Given the description of an element on the screen output the (x, y) to click on. 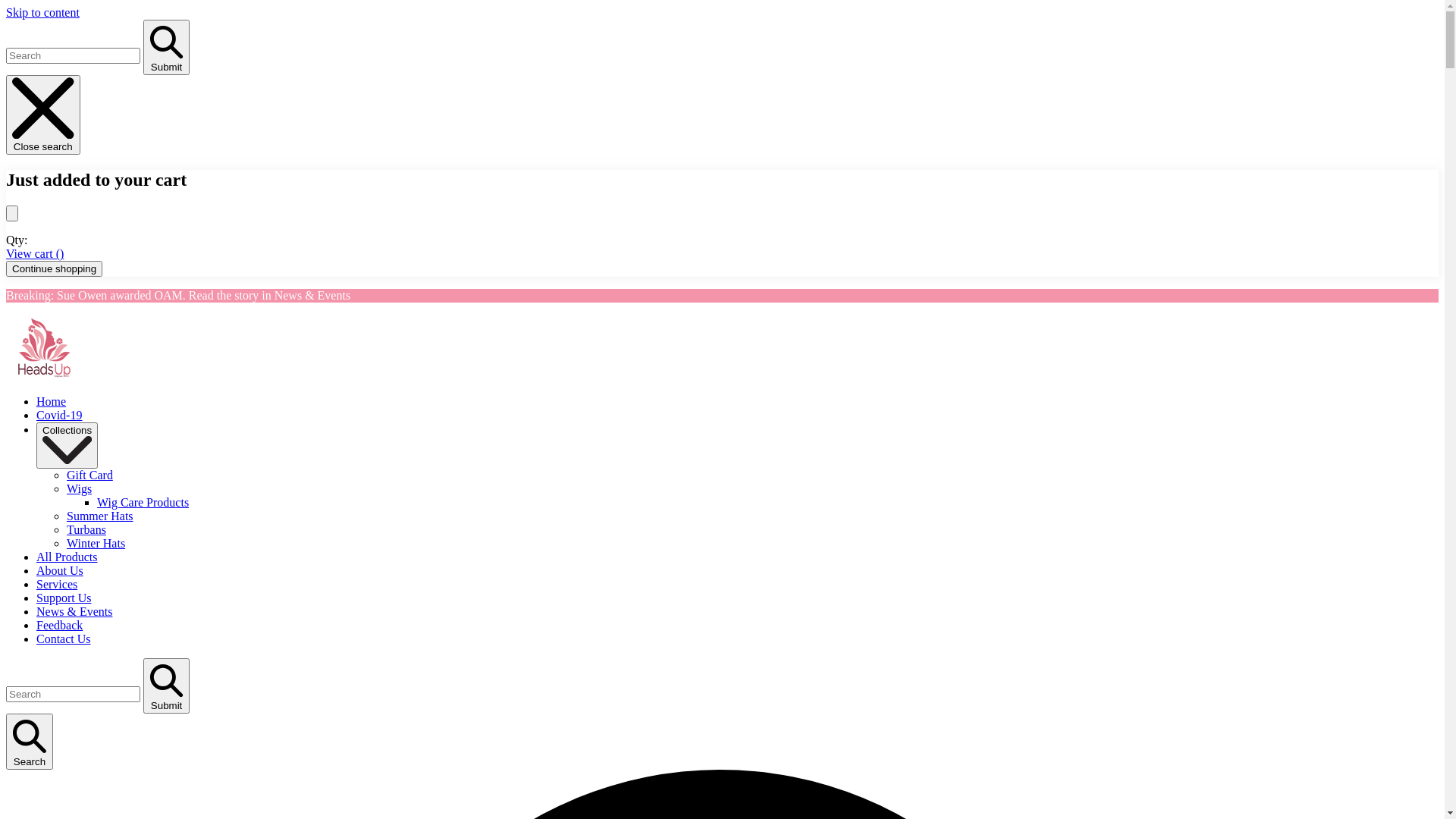
Submit Element type: text (166, 47)
Contact Us Element type: text (63, 638)
About Us Element type: text (59, 570)
Feedback Element type: text (59, 624)
Support Us Element type: text (63, 597)
Services Element type: text (56, 583)
Home Element type: text (50, 401)
Submit Element type: text (166, 685)
Wigs Element type: text (78, 488)
Search Element type: text (29, 741)
Covid-19 Element type: text (58, 414)
Skip to content Element type: text (42, 12)
Winter Hats Element type: text (95, 542)
View cart () Element type: text (34, 253)
Continue shopping Element type: text (54, 268)
Close search Element type: text (43, 115)
All Products Element type: text (66, 556)
News & Events Element type: text (74, 611)
Summer Hats Element type: text (99, 515)
Wig Care Products Element type: text (142, 501)
Gift Card Element type: text (89, 474)
Turbans Element type: text (86, 529)
